Given the description of an element on the screen output the (x, y) to click on. 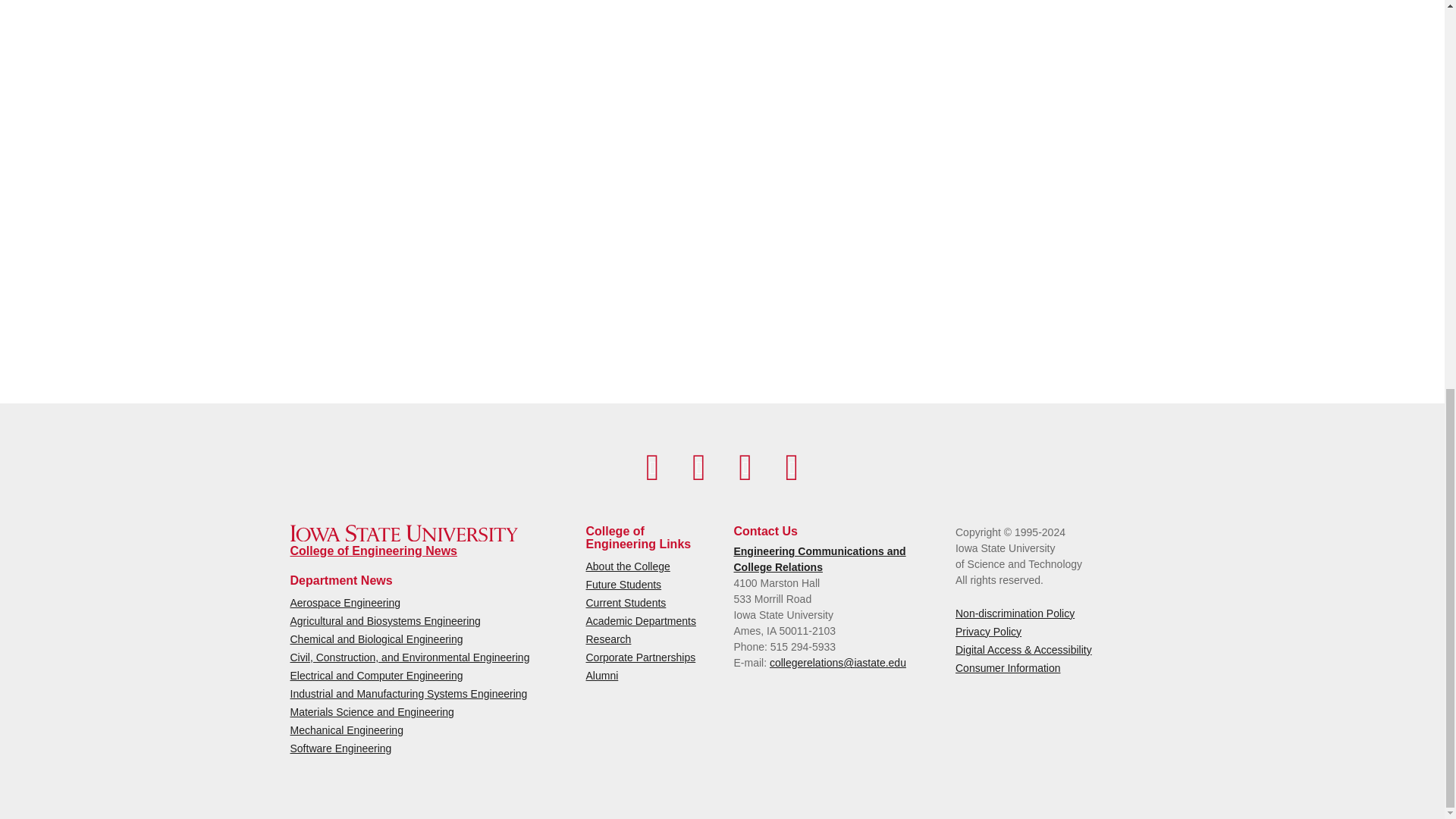
Iowa State University (402, 533)
Facebook (651, 467)
YouTube (698, 467)
MyState (791, 467)
Instagram (745, 467)
